Given the description of an element on the screen output the (x, y) to click on. 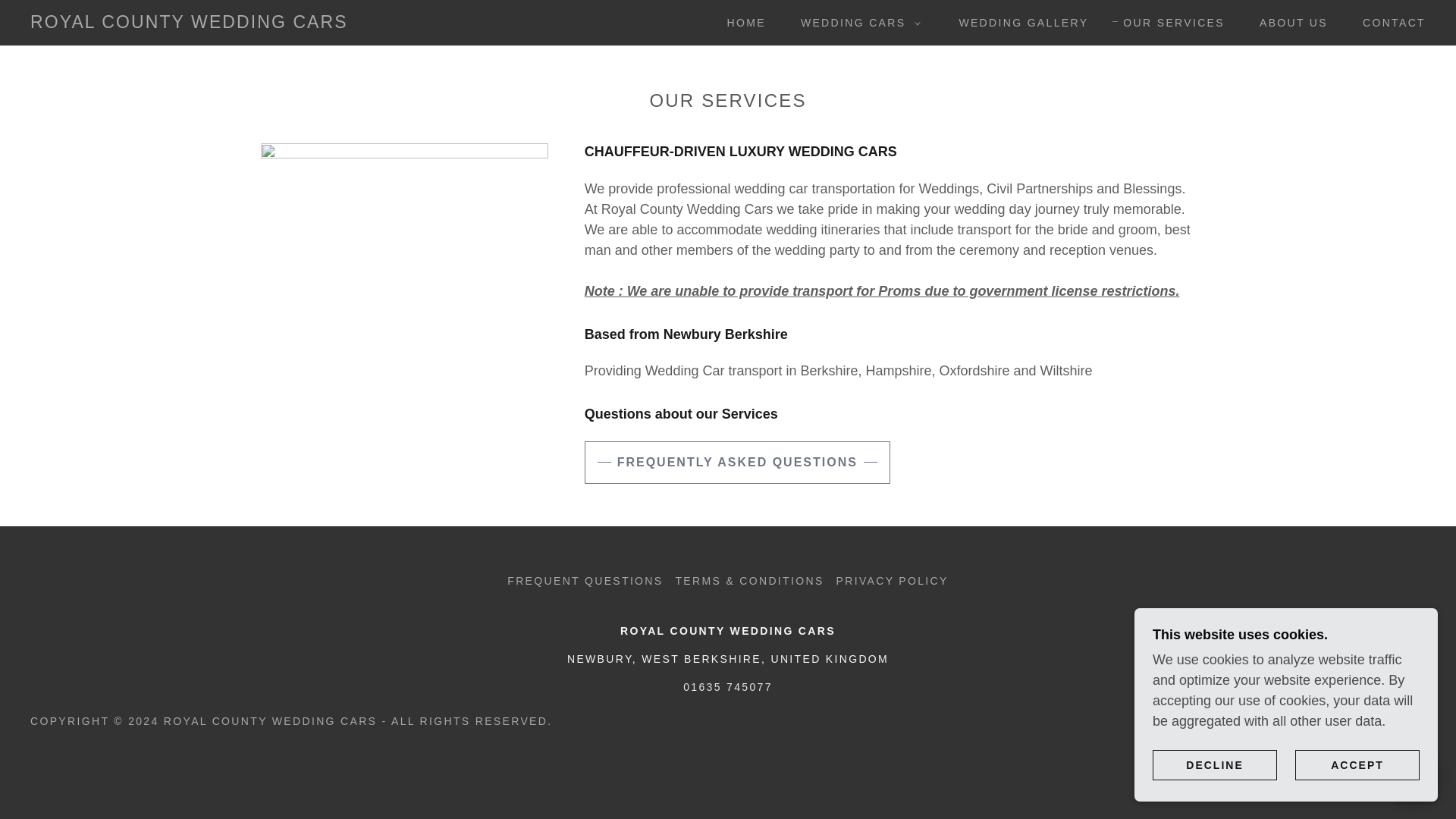
DECLINE (1214, 764)
ACCEPT (1357, 764)
PRIVACY POLICY (892, 580)
ROYAL COUNTY WEDDING CARS (188, 23)
WEDDING CARS (857, 22)
GODADDY (1392, 720)
HOME (740, 22)
Royal County Wedding Cars (188, 23)
ABOUT US (1288, 22)
FREQUENT QUESTIONS (584, 580)
